Given the description of an element on the screen output the (x, y) to click on. 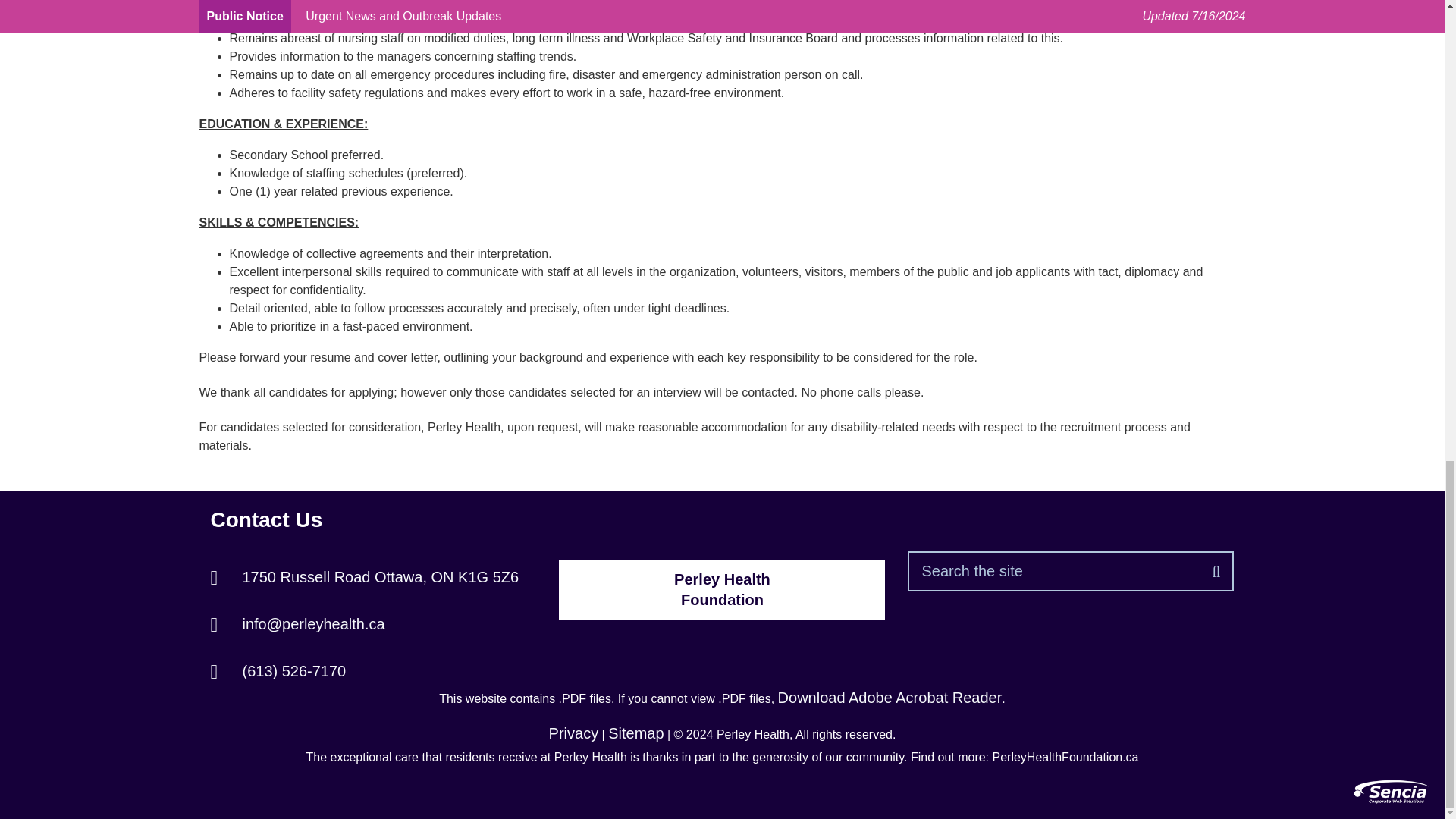
Email (298, 623)
